Given the description of an element on the screen output the (x, y) to click on. 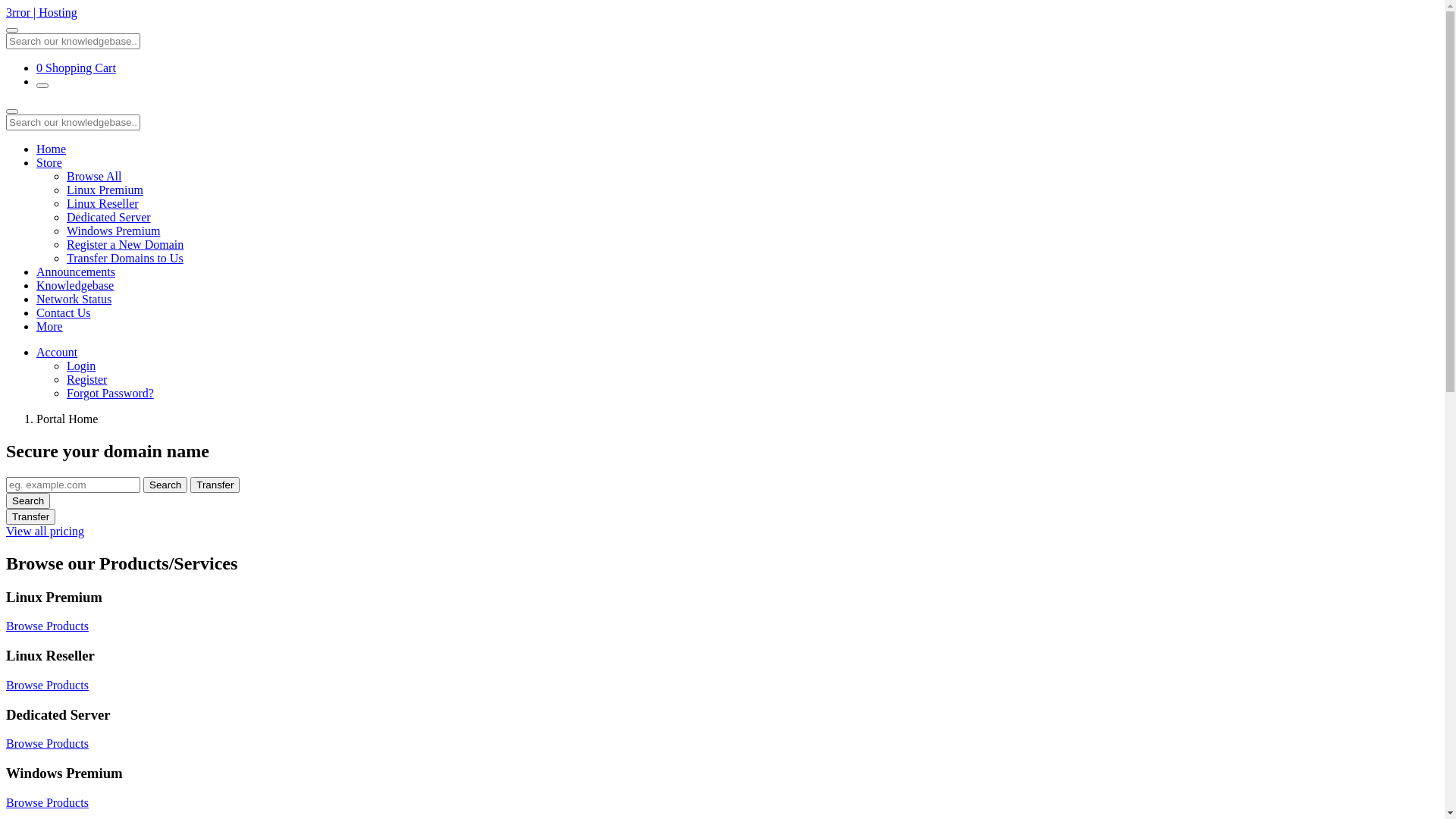
Linux Reseller Element type: text (102, 203)
Contact Us Element type: text (63, 312)
Search Element type: text (28, 500)
3rror | Hosting Element type: text (41, 12)
Browse Products Element type: text (47, 802)
Register Element type: text (86, 379)
Transfer Element type: text (30, 516)
Transfer Element type: text (214, 484)
Knowledgebase Element type: text (74, 285)
More Element type: text (49, 326)
Register a New Domain Element type: text (124, 244)
Browse Products Element type: text (47, 684)
Home Element type: text (50, 148)
Linux Premium Element type: text (104, 189)
Browse Products Element type: text (47, 743)
Browse Products Element type: text (47, 625)
Transfer Domains to Us Element type: text (124, 257)
Store Element type: text (49, 162)
Search Element type: text (165, 484)
View all pricing Element type: text (45, 530)
Forgot Password? Element type: text (109, 392)
Account Element type: text (56, 351)
Announcements Element type: text (75, 271)
0 Shopping Cart Element type: text (76, 67)
Login Element type: text (80, 365)
Windows Premium Element type: text (113, 230)
Browse All Element type: text (93, 175)
Dedicated Server Element type: text (108, 216)
Network Status Element type: text (73, 298)
